Given the description of an element on the screen output the (x, y) to click on. 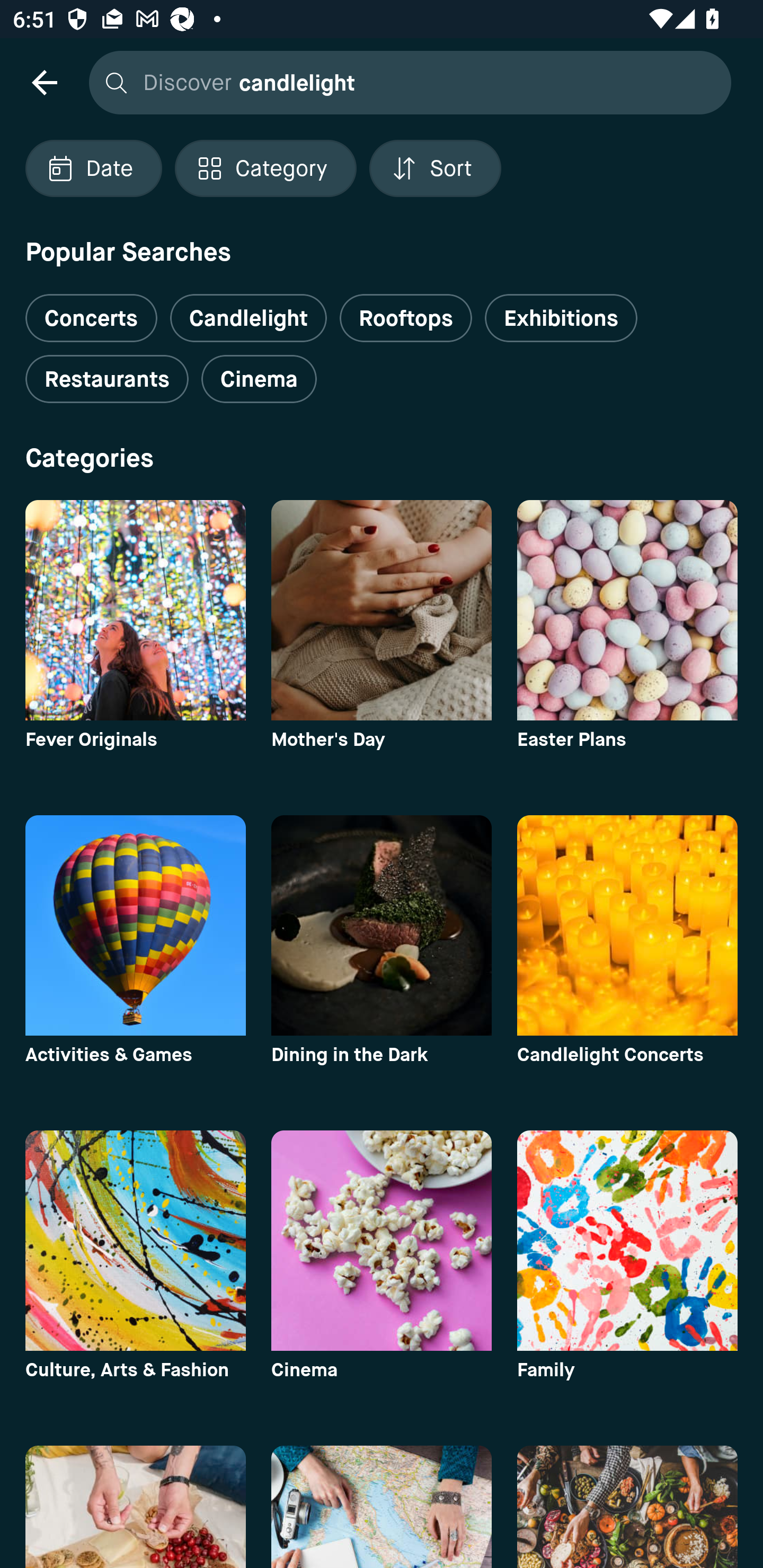
navigation icon (44, 81)
Discover candlelight (405, 81)
Localized description Date (93, 168)
Localized description Category (265, 168)
Localized description Sort (435, 168)
Concerts (91, 310)
Candlelight (248, 317)
Rooftops (405, 317)
Exhibitions (560, 317)
Restaurants (106, 379)
Cinema (258, 379)
category image (135, 609)
category image (381, 609)
category image (627, 609)
category image (135, 924)
category image (381, 924)
category image (627, 924)
category image (135, 1240)
category image (381, 1240)
category image (627, 1240)
category image (135, 1506)
category image (381, 1506)
category image (627, 1506)
